Given the description of an element on the screen output the (x, y) to click on. 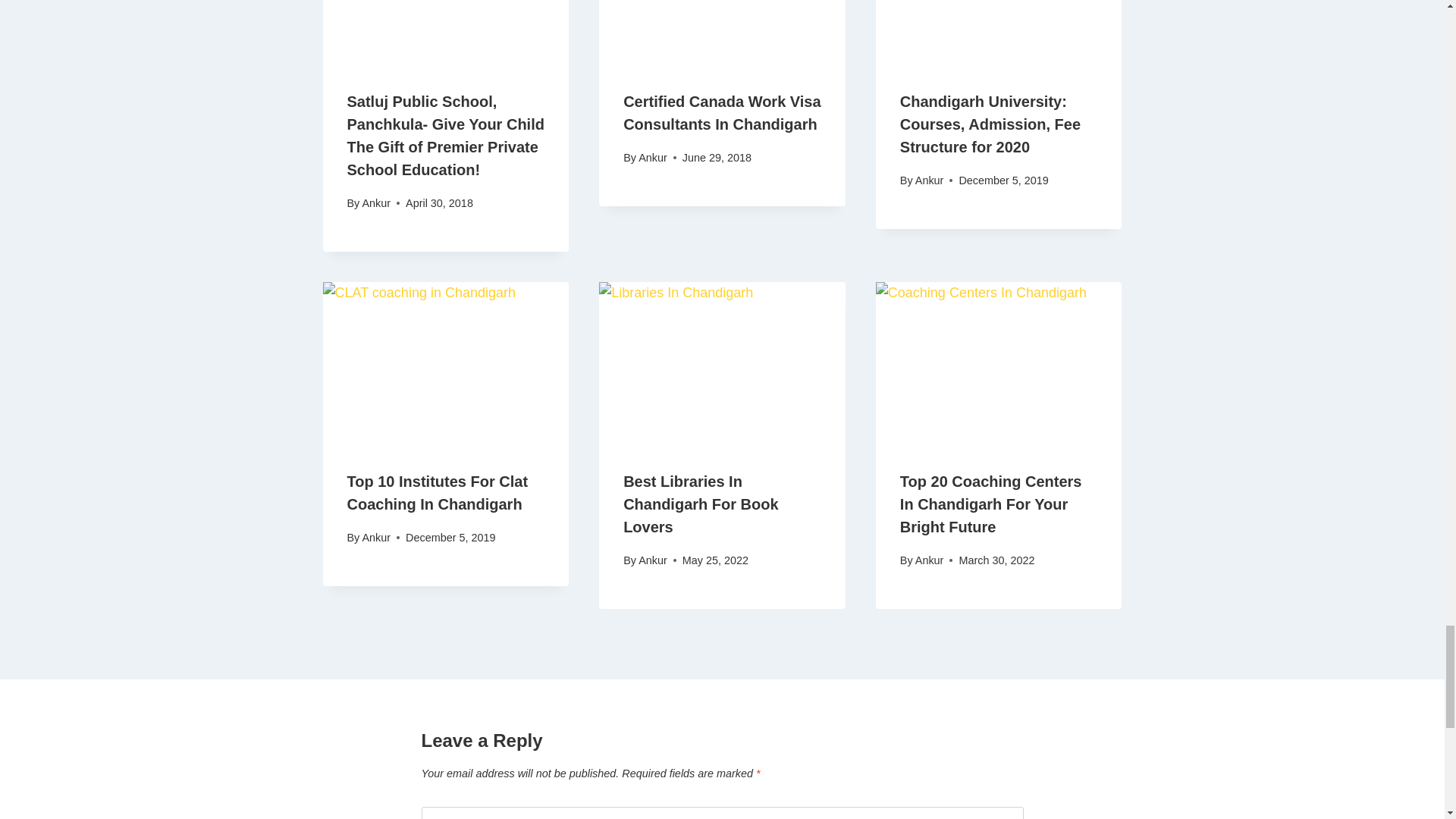
Ankur (929, 180)
Ankur (375, 203)
Certified Canada Work Visa Consultants In Chandigarh (722, 112)
Ankur (652, 157)
